Given the description of an element on the screen output the (x, y) to click on. 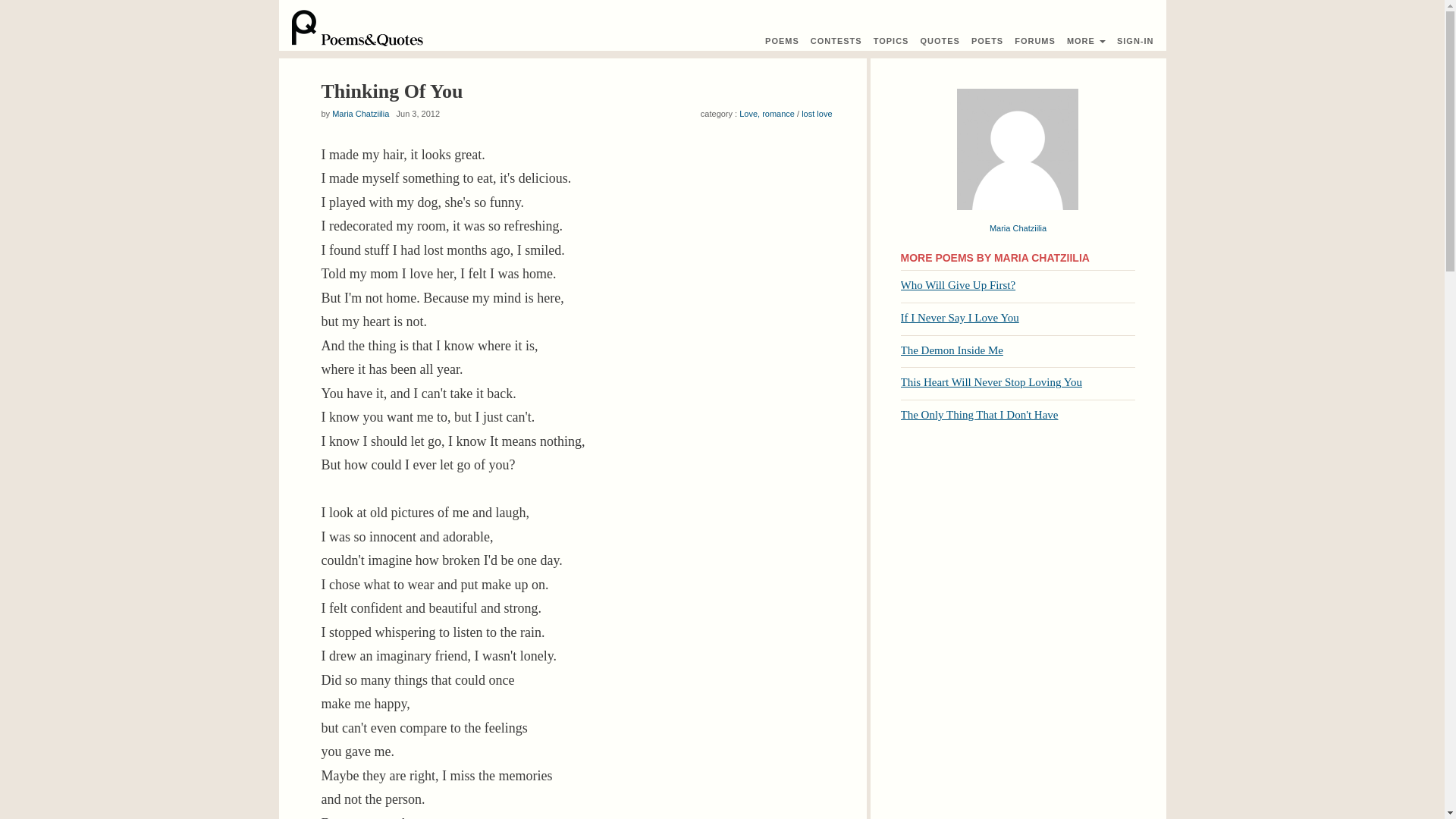
Maria Chatziilia (1018, 227)
The Only Thing That I Don't Have (979, 414)
This Heart Will Never Stop Loving You (992, 381)
If I Never Say I Love You (960, 317)
Love, romance (766, 112)
POEMS (782, 40)
SIGN-IN (1135, 40)
TOPICS (890, 40)
The Demon Inside Me (952, 349)
Advertisement (1018, 542)
